Given the description of an element on the screen output the (x, y) to click on. 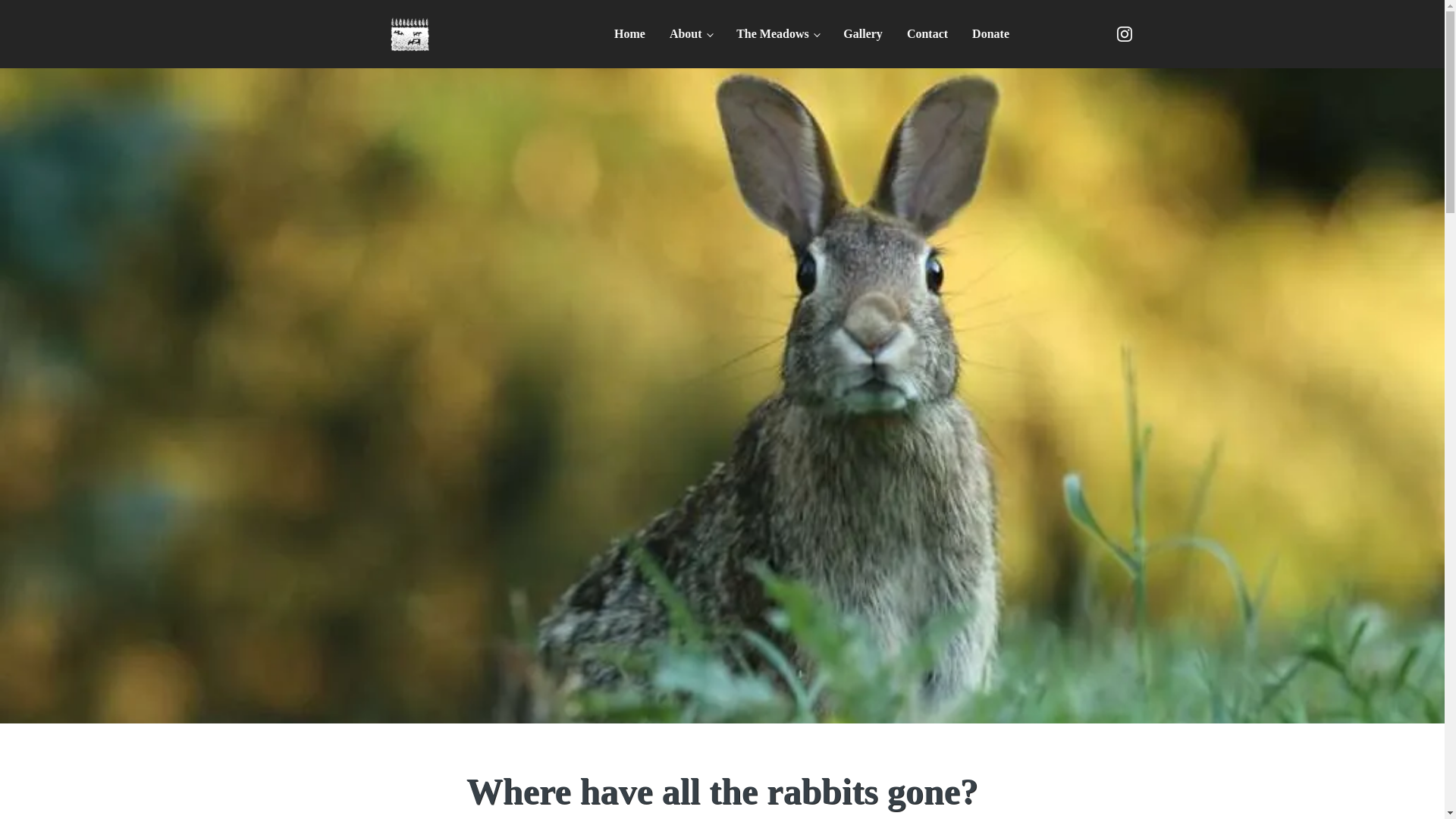
Donate (990, 33)
Contact (927, 33)
About (690, 33)
The Meadows (777, 33)
Gallery (863, 33)
Home (630, 33)
